Given the description of an element on the screen output the (x, y) to click on. 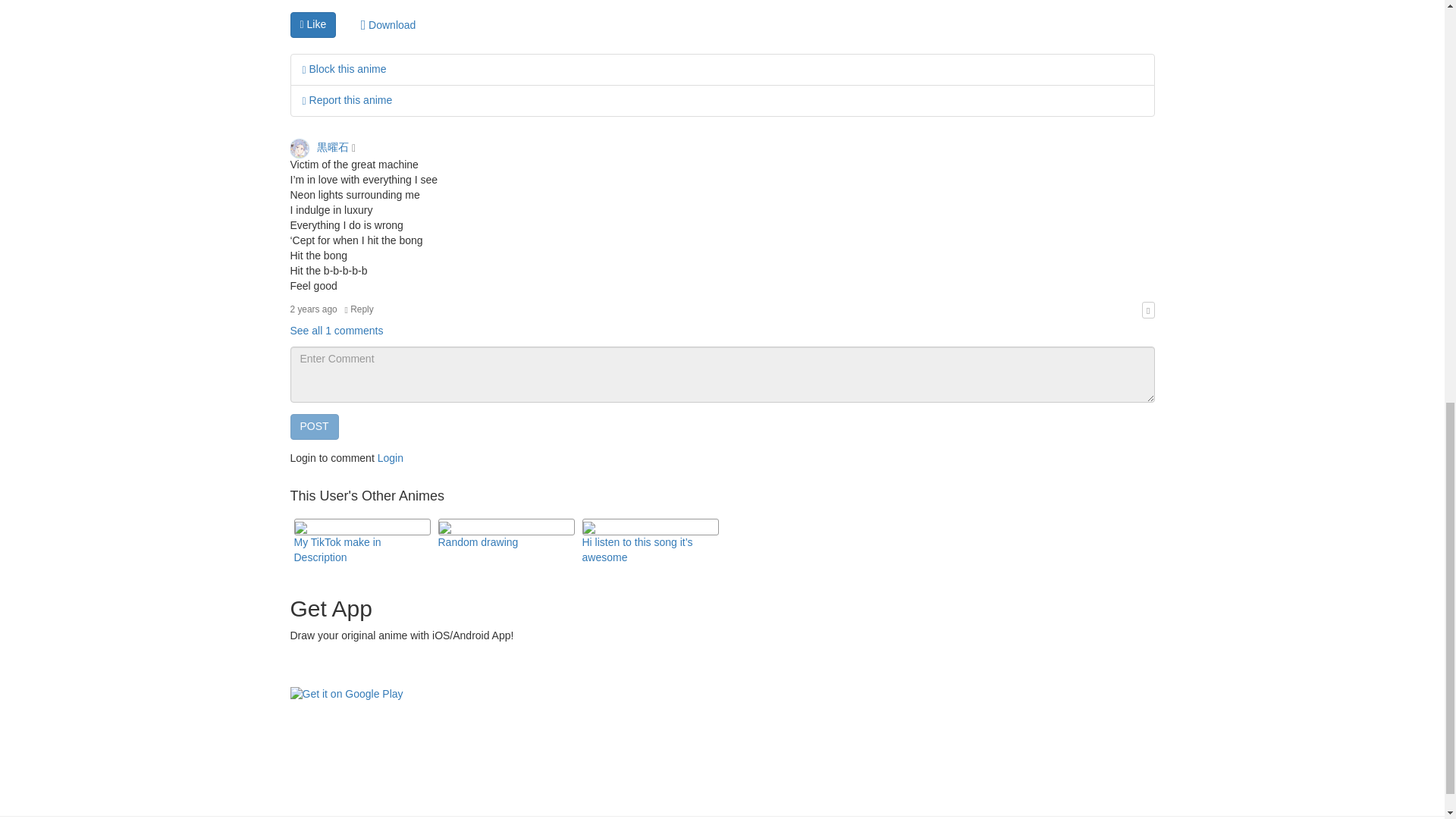
Login (390, 458)
POST (313, 426)
Report this anime (346, 100)
Reply (359, 308)
Download (388, 25)
POST (313, 426)
Block this anime (343, 69)
Random drawing (478, 541)
My TikTok make in Description (337, 549)
See all 1 comments (335, 330)
